Given the description of an element on the screen output the (x, y) to click on. 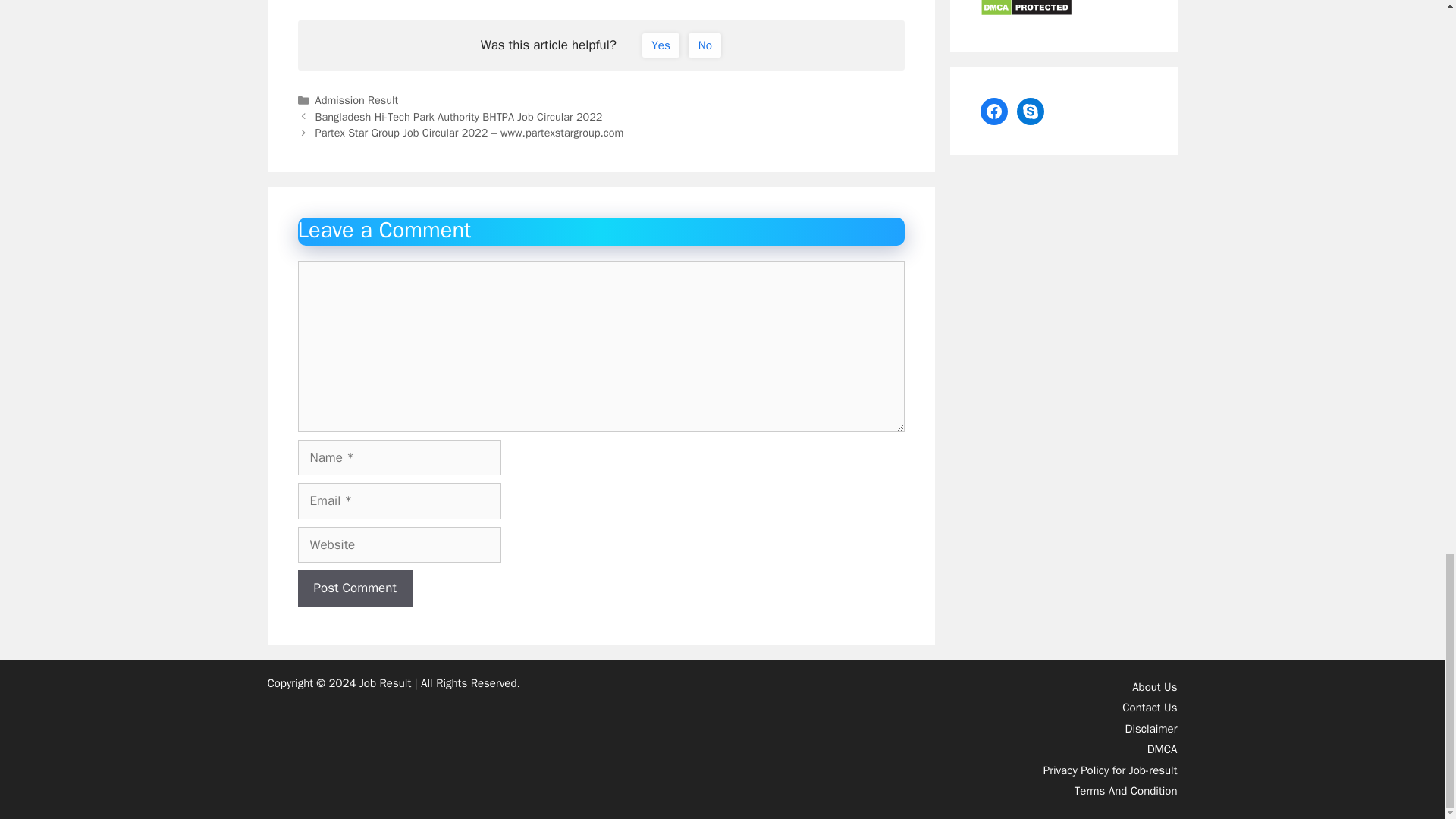
Post Comment (354, 588)
Admission Result (356, 100)
Post Comment (354, 588)
Bangladesh Hi-Tech Park Authority BHTPA Job Circular 2022 (458, 116)
DMCA.com Protection Status (1025, 11)
